Given the description of an element on the screen output the (x, y) to click on. 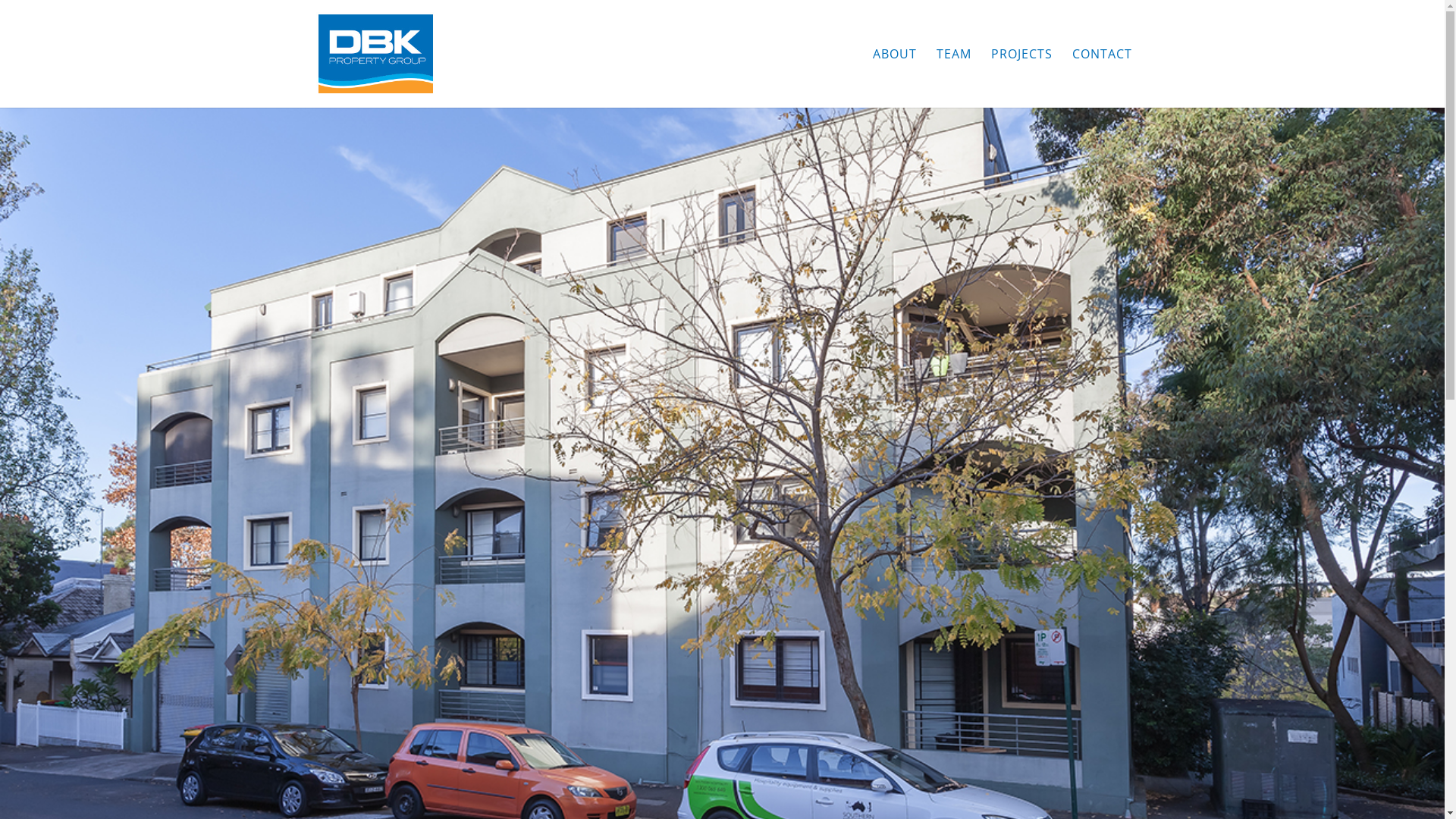
ABOUT Element type: text (894, 77)
TEAM Element type: text (952, 77)
CONTACT Element type: text (1102, 77)
PROJECTS Element type: text (1020, 77)
